Given the description of an element on the screen output the (x, y) to click on. 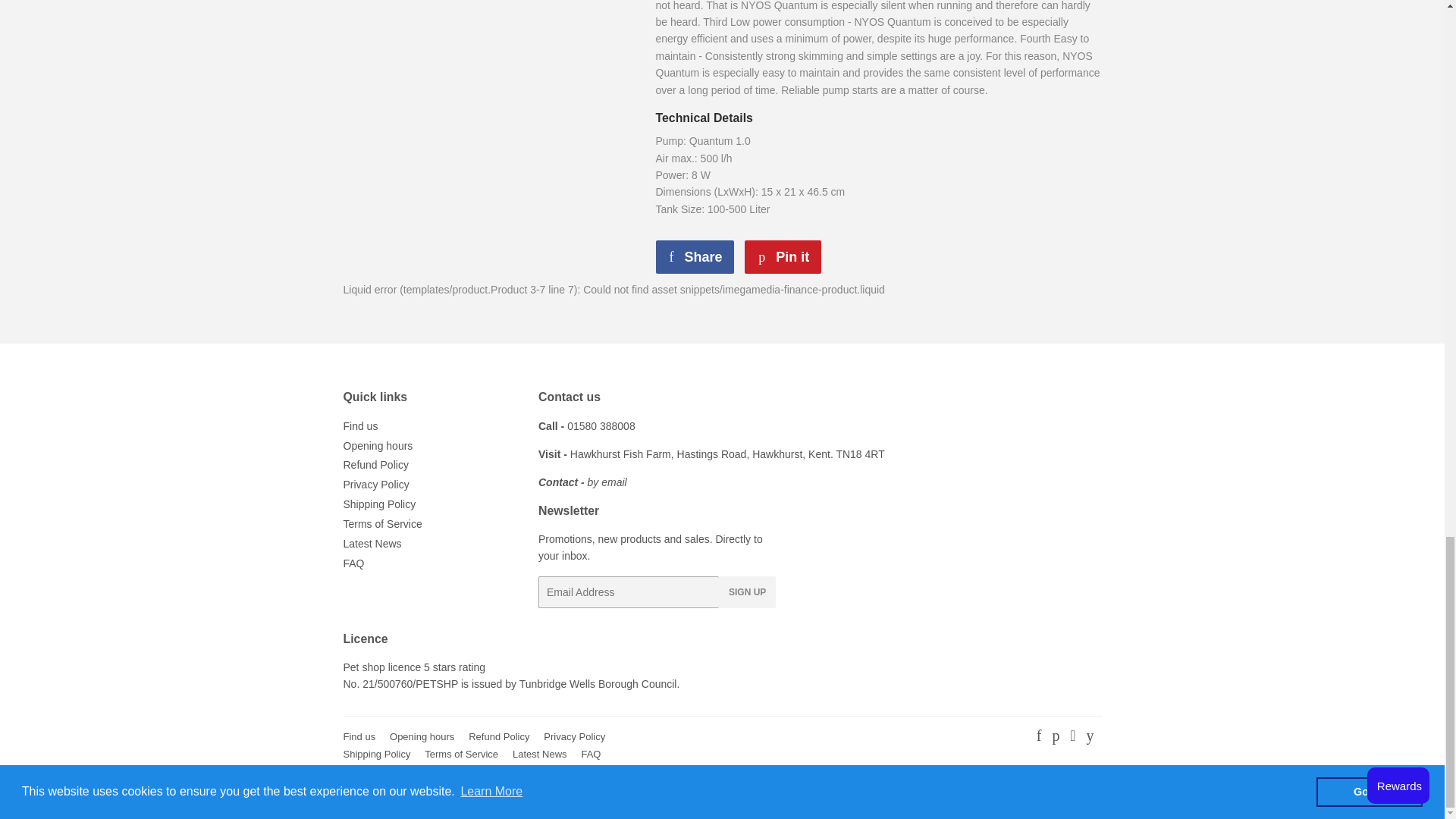
Contact us (582, 481)
Discover (806, 794)
All Things Aquatic on Instagram (1072, 736)
PayPal (966, 794)
All Things Aquatic on Pinterest (1055, 736)
Apple Pay (725, 794)
tel:01580 388008 (600, 426)
All Things Aquatic on Facebook (1039, 736)
Google Pay (845, 794)
Visa (1085, 794)
Shop Pay (1005, 794)
All Things Aquatic on YouTube (1089, 736)
Mastercard (925, 794)
Union Pay (1046, 794)
Share on Facebook (694, 256)
